Given the description of an element on the screen output the (x, y) to click on. 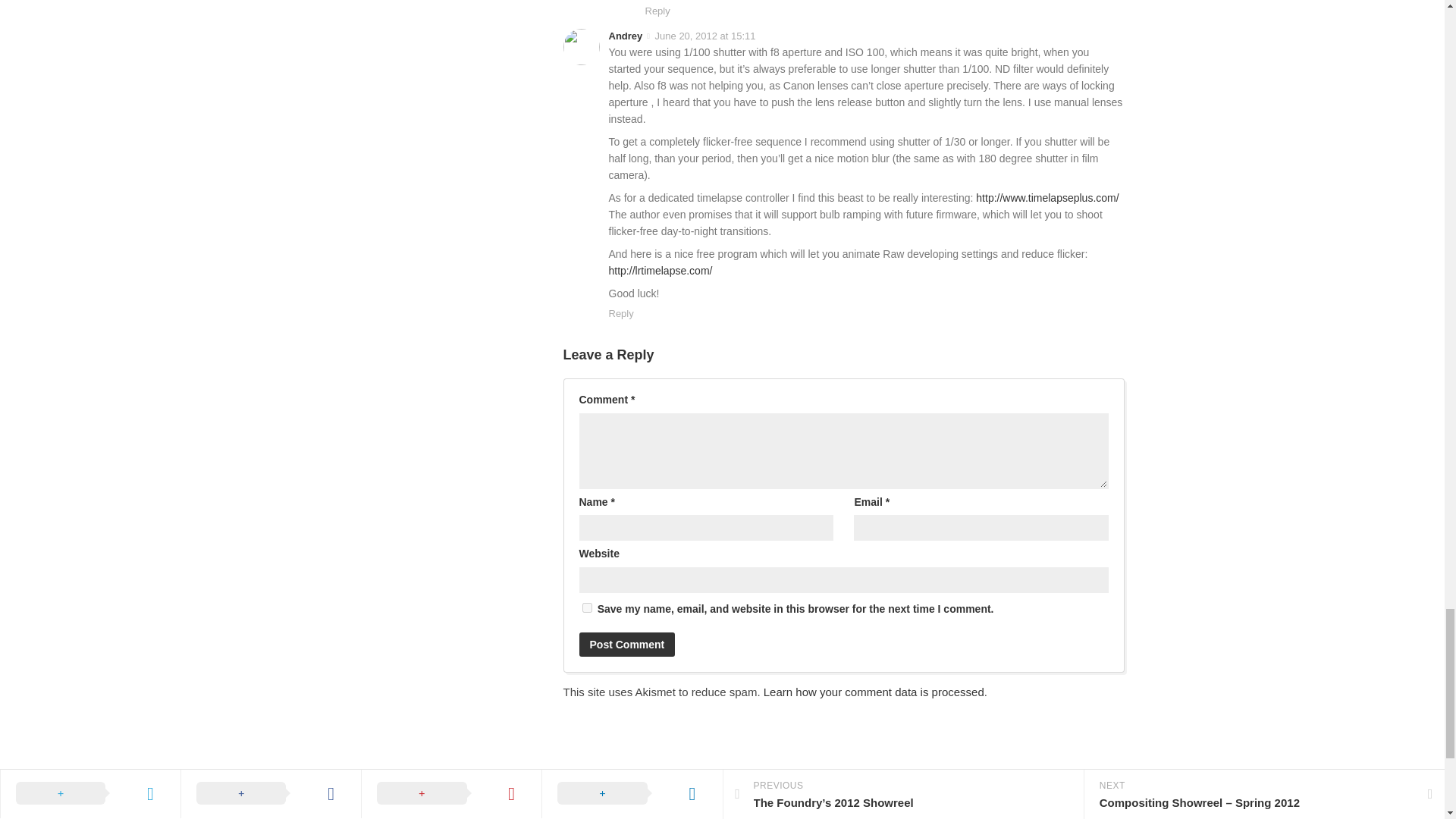
yes (587, 607)
Post Comment (627, 644)
